Given the description of an element on the screen output the (x, y) to click on. 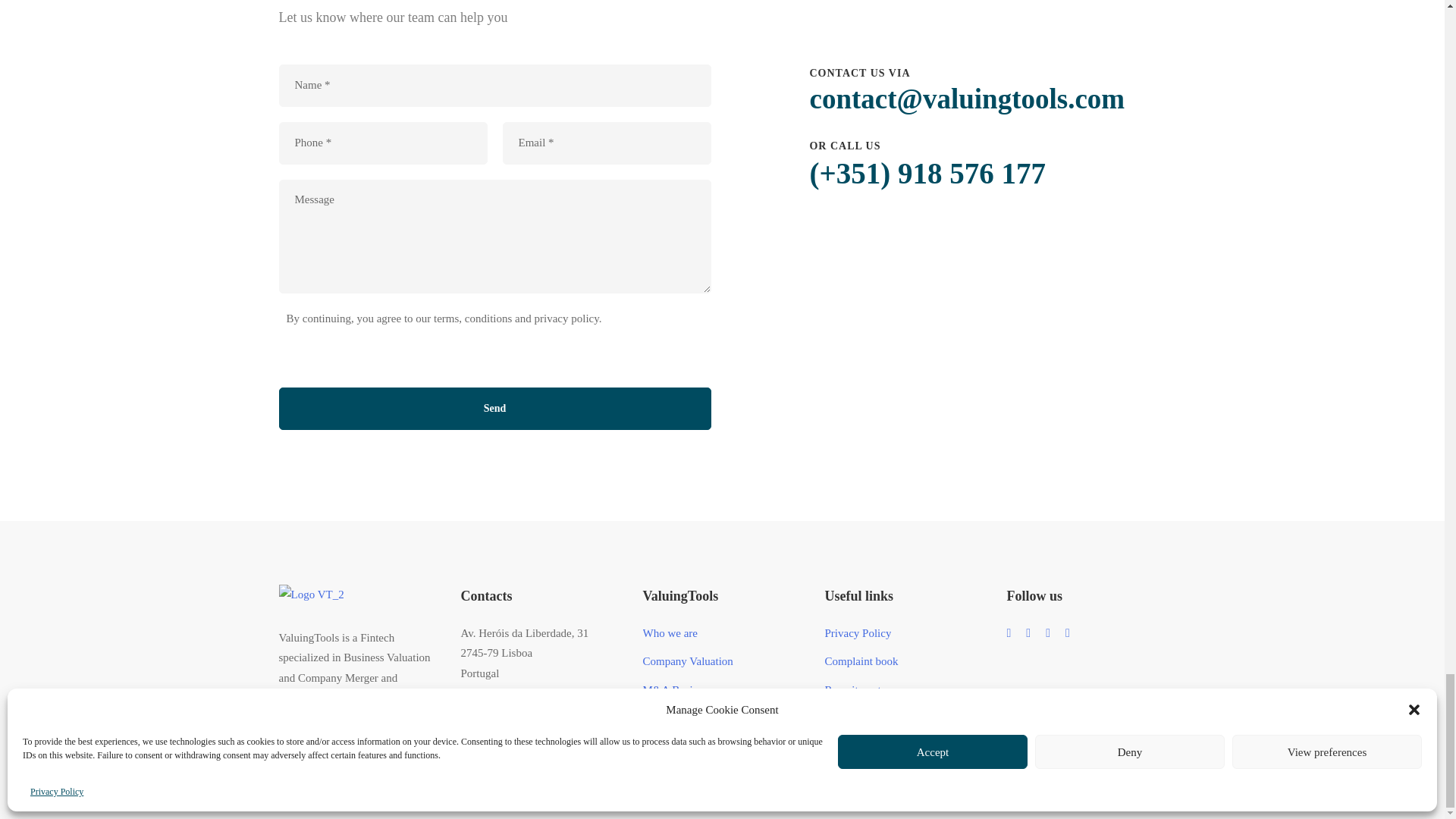
Send (495, 408)
